Given the description of an element on the screen output the (x, y) to click on. 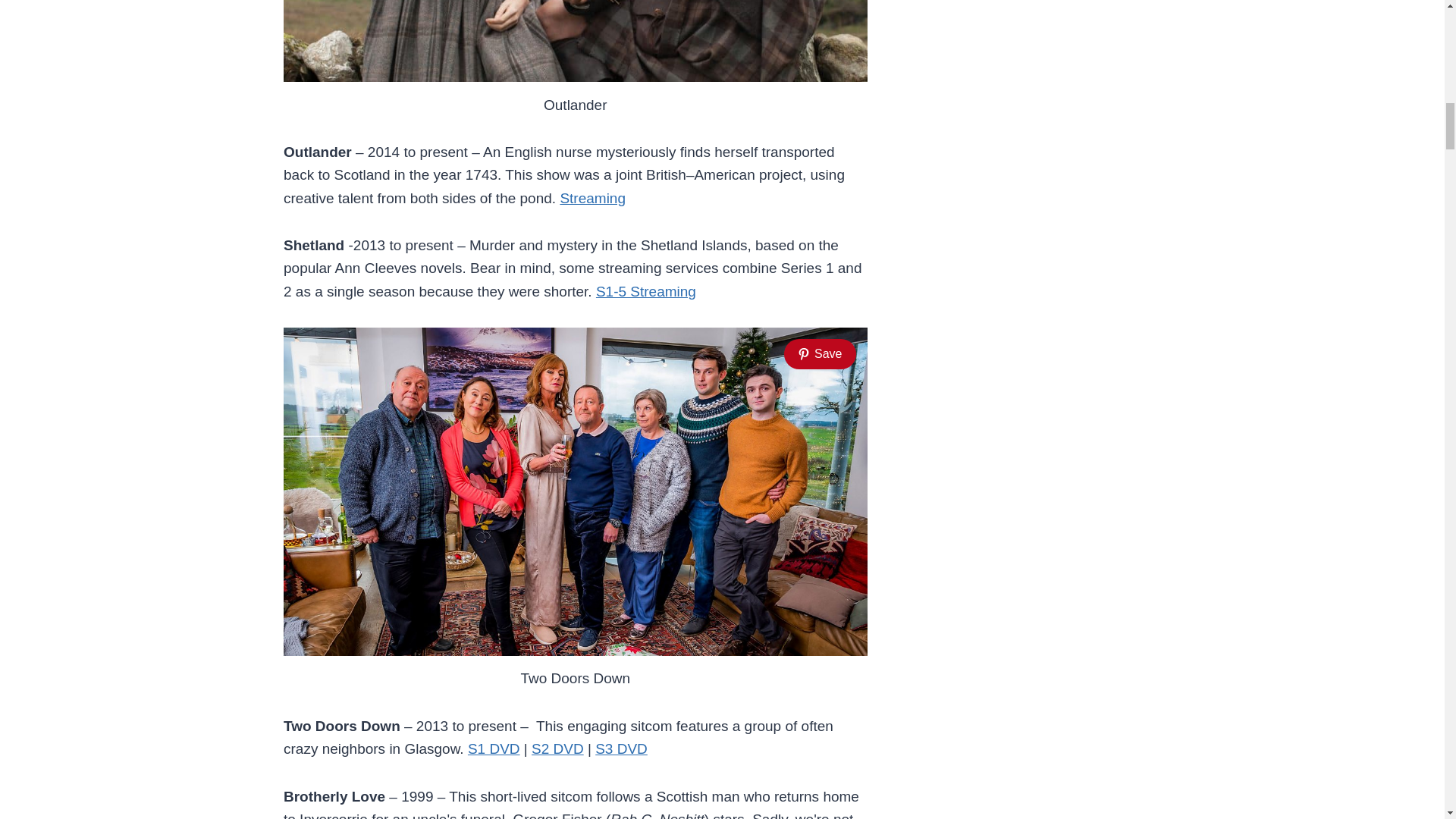
S1-5 Streaming (645, 291)
S1 DVD (493, 748)
S3 DVD (621, 748)
Streaming (592, 198)
S2 DVD (557, 748)
